Given the description of an element on the screen output the (x, y) to click on. 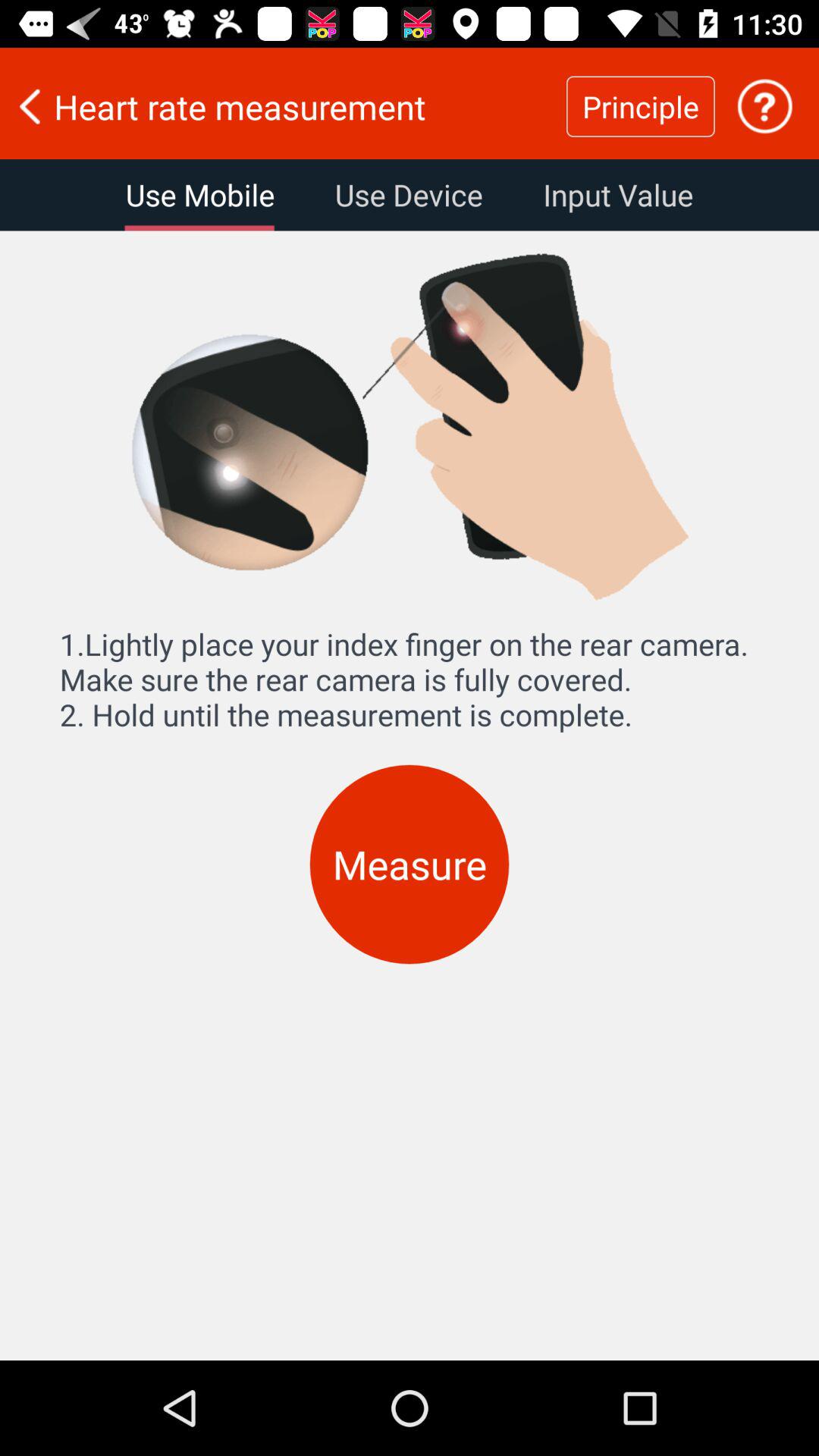
flip to the principle item (640, 106)
